Given the description of an element on the screen output the (x, y) to click on. 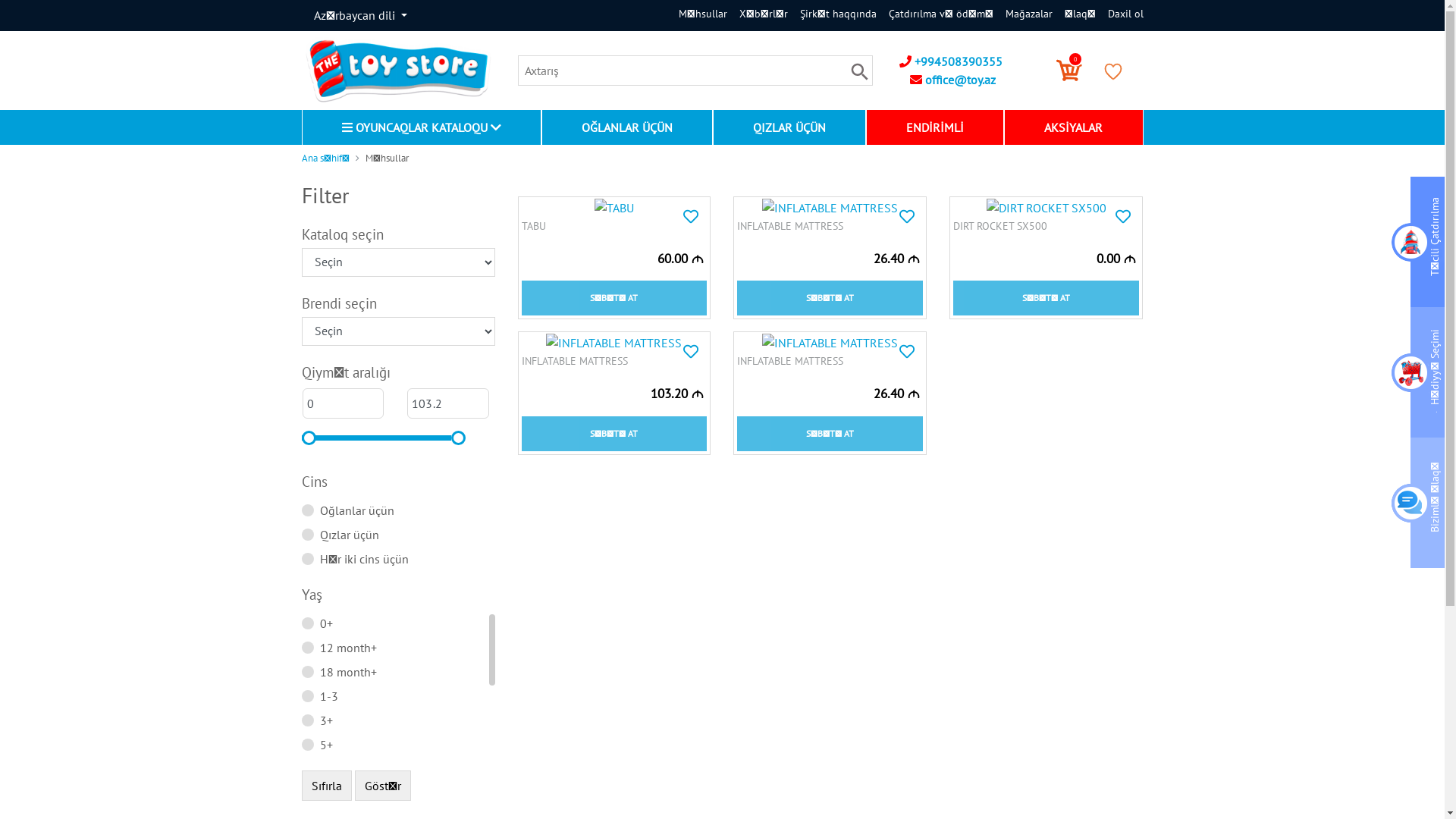
INFLATABLE MATTRESS Element type: hover (829, 207)
INFLATABLE MATTRESS Element type: text (614, 365)
TABU Element type: hover (613, 207)
AKSIYALAR Element type: text (1073, 126)
INFLATABLE MATTRESS Element type: text (829, 230)
INFLATABLE MATTRESS Element type: hover (613, 342)
+994508390355 Element type: text (950, 61)
office@toy.az Element type: text (952, 79)
OYUNCAQLAR KATALOQU Element type: text (420, 126)
TABU Element type: text (614, 230)
DIRT ROCKET SX500 Element type: text (1046, 230)
INFLATABLE MATTRESS Element type: text (829, 365)
INFLATABLE MATTRESS Element type: hover (829, 342)
DIRT ROCKET SX500 Element type: hover (1046, 207)
Daxil ol Element type: text (1118, 14)
ENDIRIMLI Element type: text (934, 126)
